Given the description of an element on the screen output the (x, y) to click on. 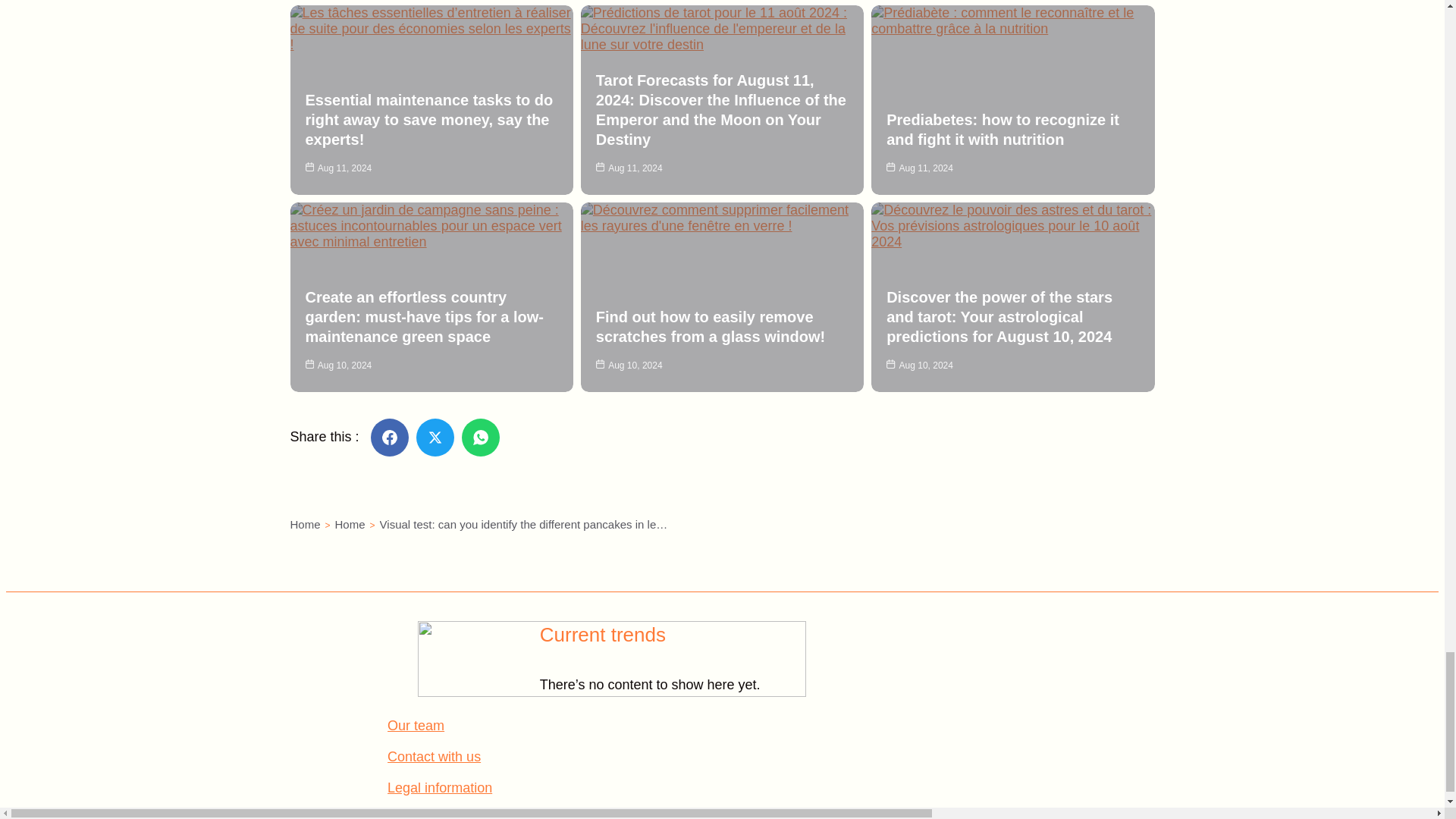
Contact with us (433, 756)
Home (349, 523)
Legal information (439, 787)
Our team (415, 725)
Find out how to easily remove scratches from a glass window! (710, 326)
Prediabetes: how to recognize it and fight it with nutrition (1002, 129)
Home (304, 523)
